Given the description of an element on the screen output the (x, y) to click on. 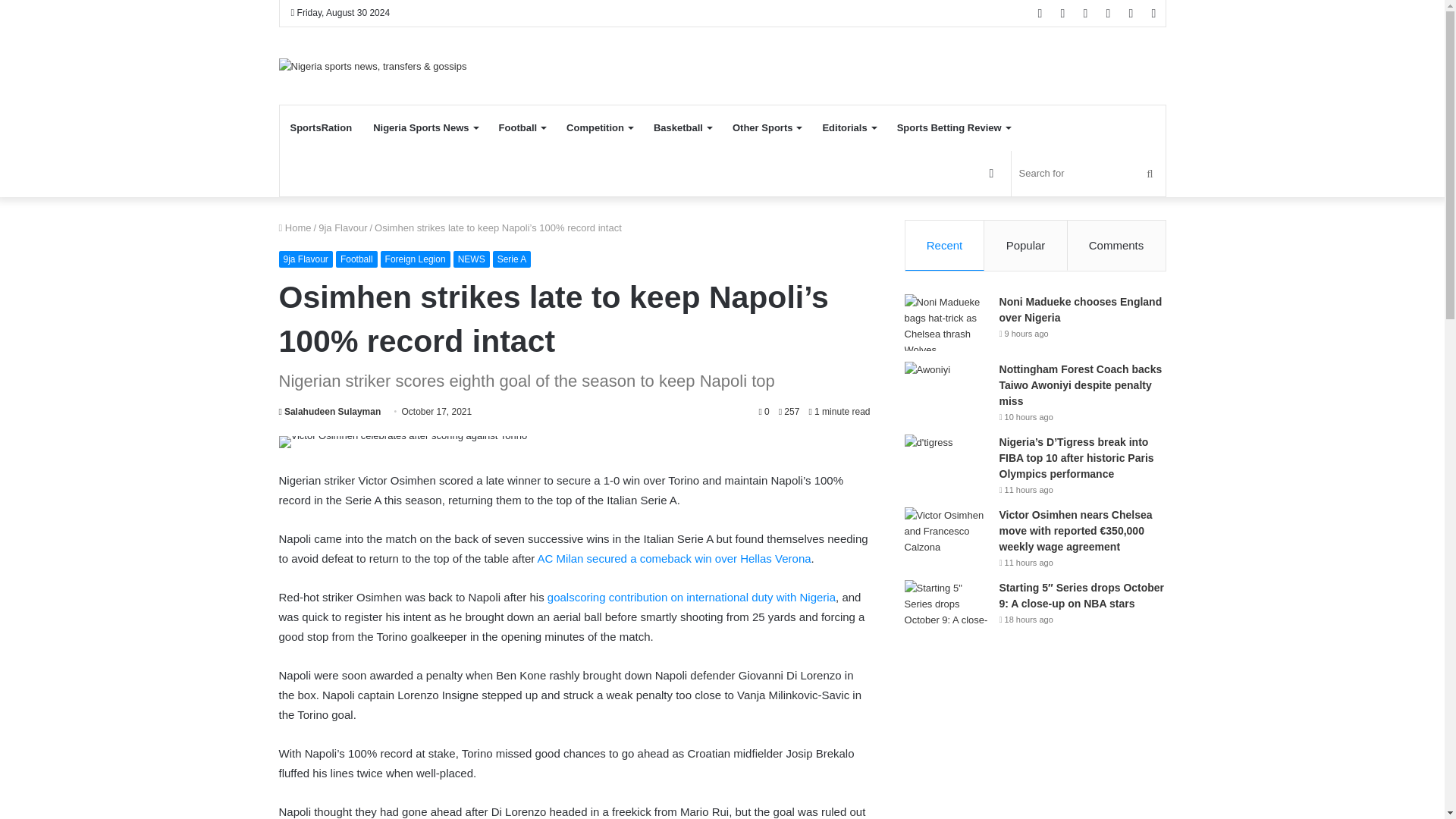
Football (521, 127)
Salahudeen Sulayman (330, 411)
Search for (1088, 173)
Nigeria Sports News (424, 127)
SportsRation (320, 127)
